Given the description of an element on the screen output the (x, y) to click on. 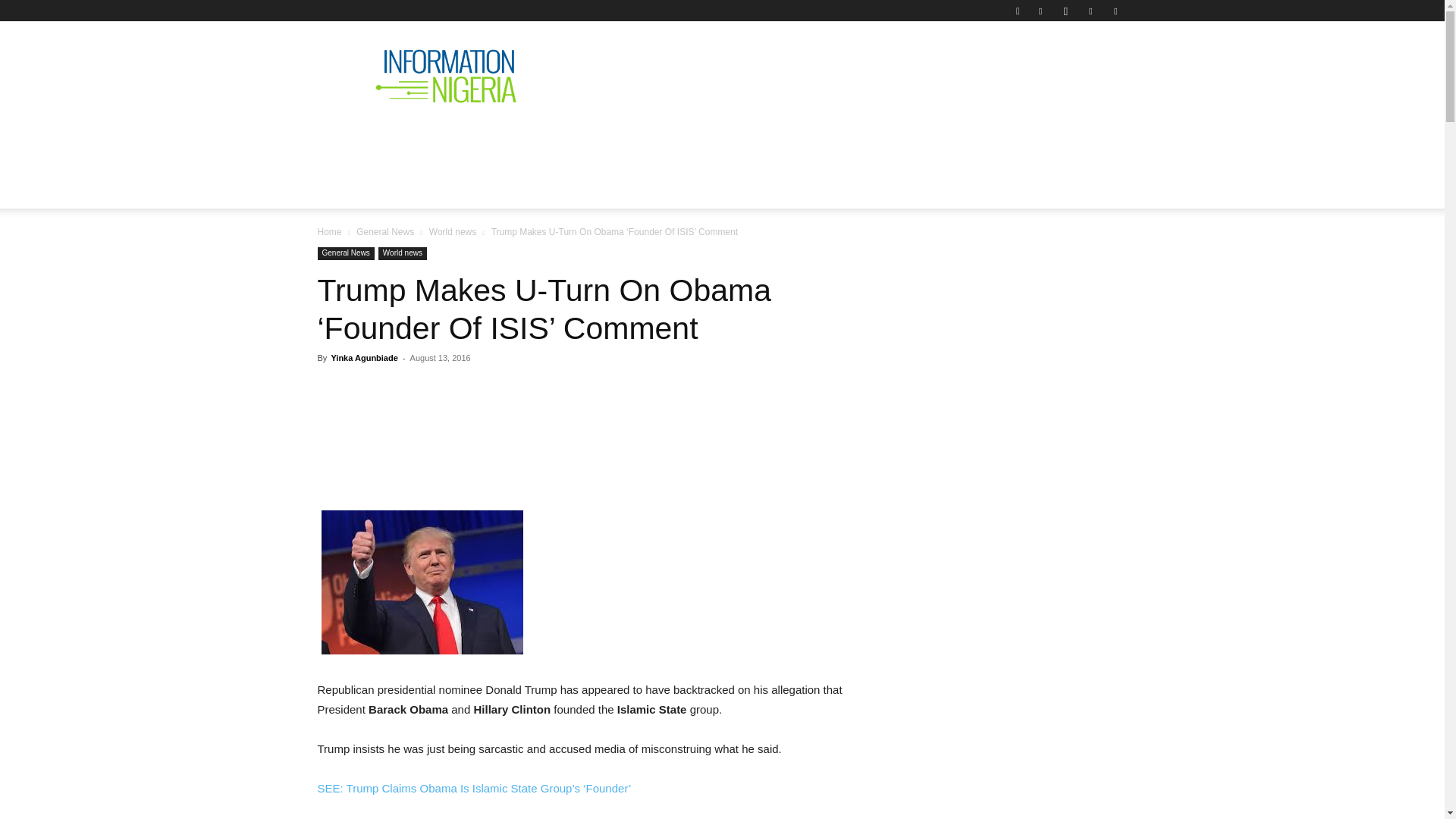
Facebook (1040, 10)
METRO NEWS (884, 139)
NATIONAL NEWS (444, 139)
SPECIAL REPORTS (660, 139)
SPORTS (974, 139)
POLITICS (551, 139)
View all posts in World news (452, 231)
Search (1085, 64)
Nigeria News, Nigerian Newspaper (446, 76)
BBC PIDGIN (779, 139)
